Given the description of an element on the screen output the (x, y) to click on. 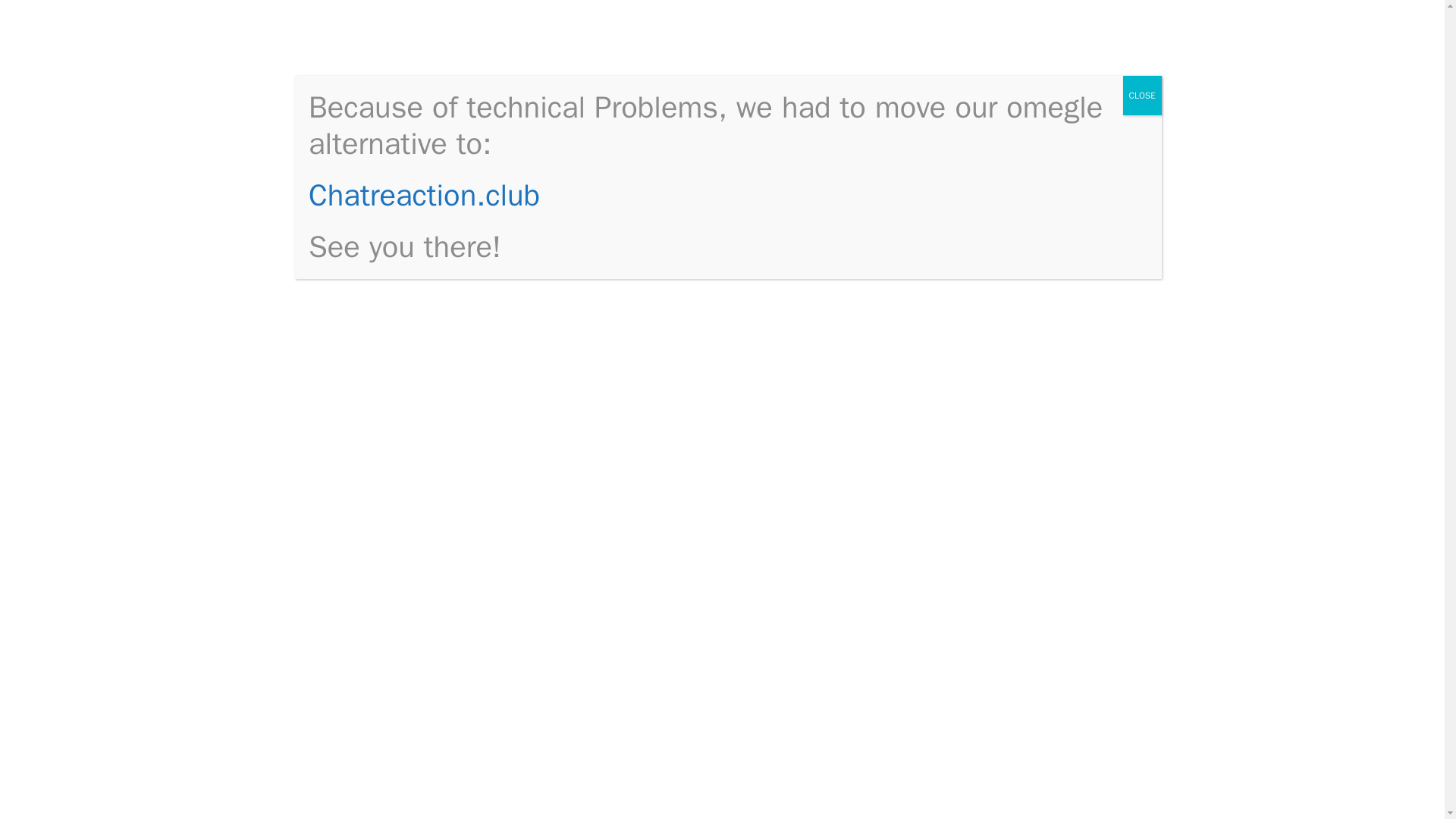
Preserve (705, 675)
Ome.tv alternative ipad (1026, 218)
Omegle link (379, 793)
pile (672, 579)
Sexy chat roulette (1011, 455)
Free adult mobile videos (1029, 709)
Dirty online chat (1006, 594)
co-star (600, 618)
Anonymous group chat (1024, 664)
